Given the description of an element on the screen output the (x, y) to click on. 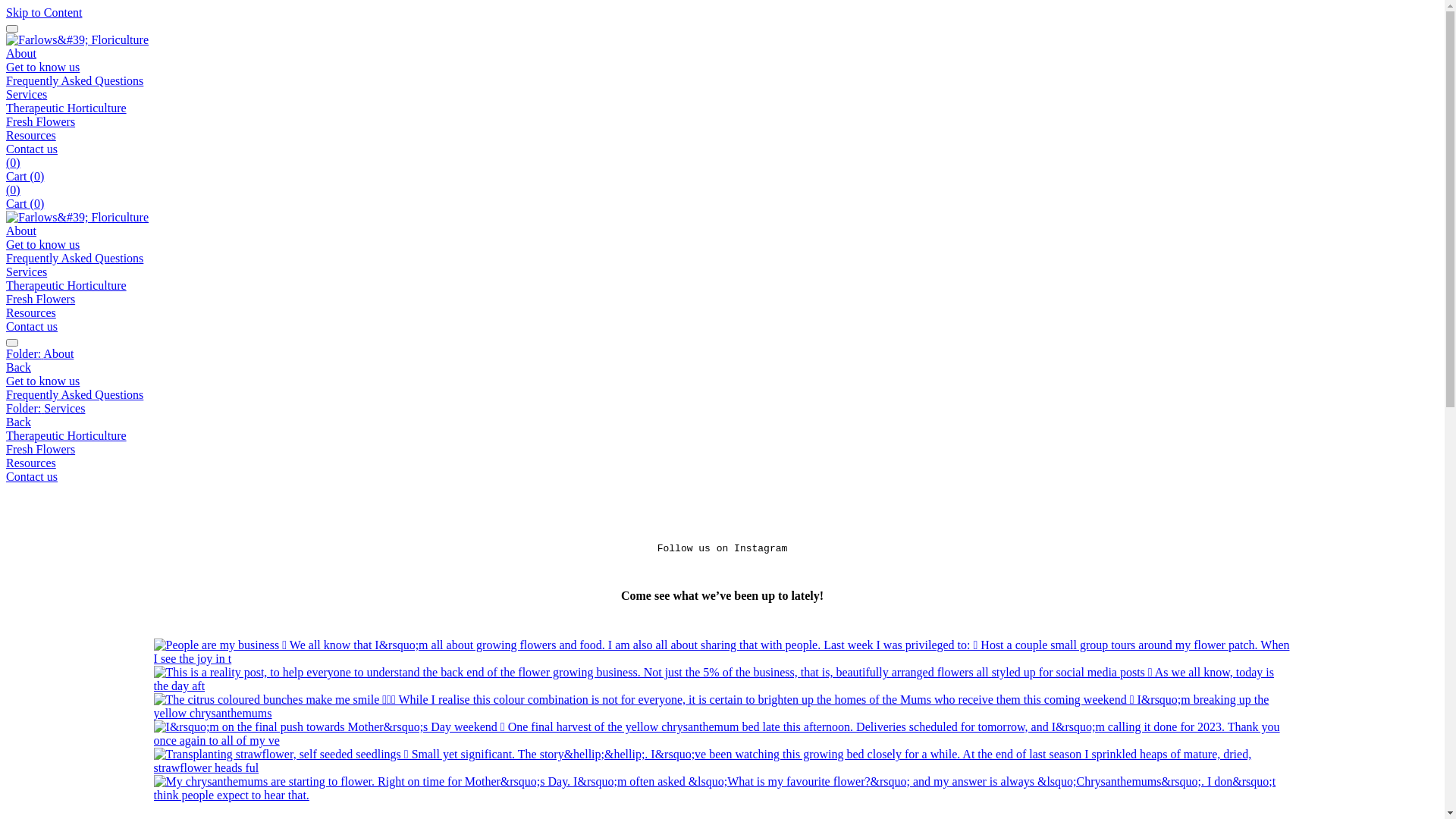
Fresh Flowers Element type: text (722, 449)
About Element type: text (21, 230)
Back Element type: text (18, 366)
Contact us Element type: text (31, 148)
Frequently Asked Questions Element type: text (74, 80)
Back Element type: text (18, 421)
Folder: Services Element type: text (722, 408)
Therapeutic Horticulture Element type: text (722, 435)
(0) Element type: text (13, 162)
Cart (0) Element type: text (24, 175)
Fresh Flowers Element type: text (40, 121)
Contact us Element type: text (31, 326)
Get to know us Element type: text (42, 66)
Skip to Content Element type: text (43, 12)
Therapeutic Horticulture Element type: text (66, 107)
Fresh Flowers Element type: text (40, 298)
Get to know us Element type: text (722, 381)
Cart (0) Element type: text (24, 203)
Services Element type: text (26, 271)
Contact us Element type: text (722, 476)
Therapeutic Horticulture Element type: text (66, 285)
Resources Element type: text (722, 463)
Resources Element type: text (31, 312)
Resources Element type: text (31, 134)
Services Element type: text (26, 93)
Frequently Asked Questions Element type: text (722, 394)
Get to know us Element type: text (42, 244)
Folder: About Element type: text (722, 353)
About Element type: text (21, 53)
(0) Element type: text (13, 189)
Frequently Asked Questions Element type: text (74, 257)
